Given the description of an element on the screen output the (x, y) to click on. 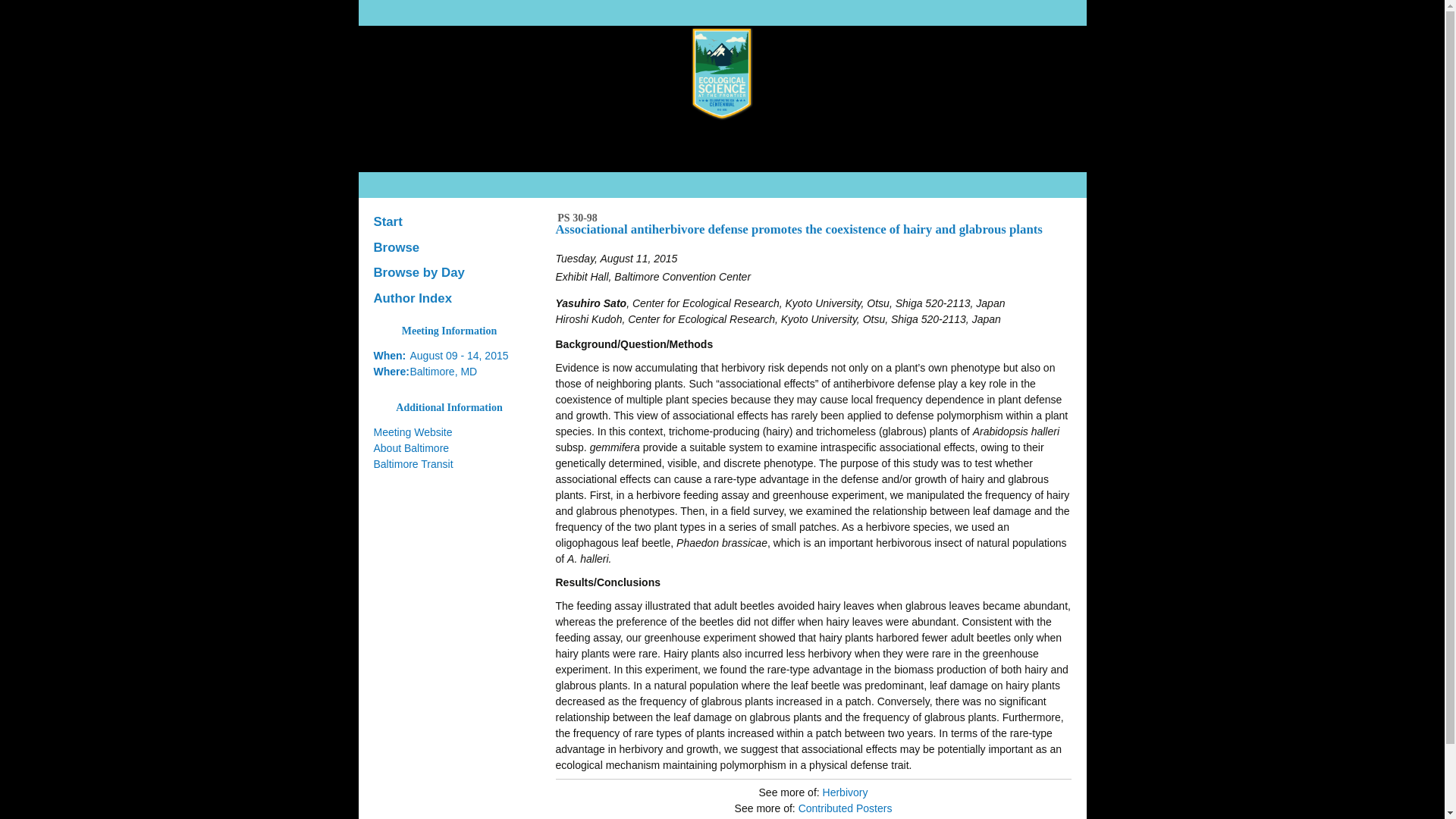
Herbivory (844, 792)
Browse (448, 248)
Baltimore Transit (412, 463)
Browse by Day (448, 272)
Contributed Posters (844, 808)
About Baltimore (410, 448)
Start (448, 222)
Author Index (448, 298)
Meeting Website (411, 431)
